Given the description of an element on the screen output the (x, y) to click on. 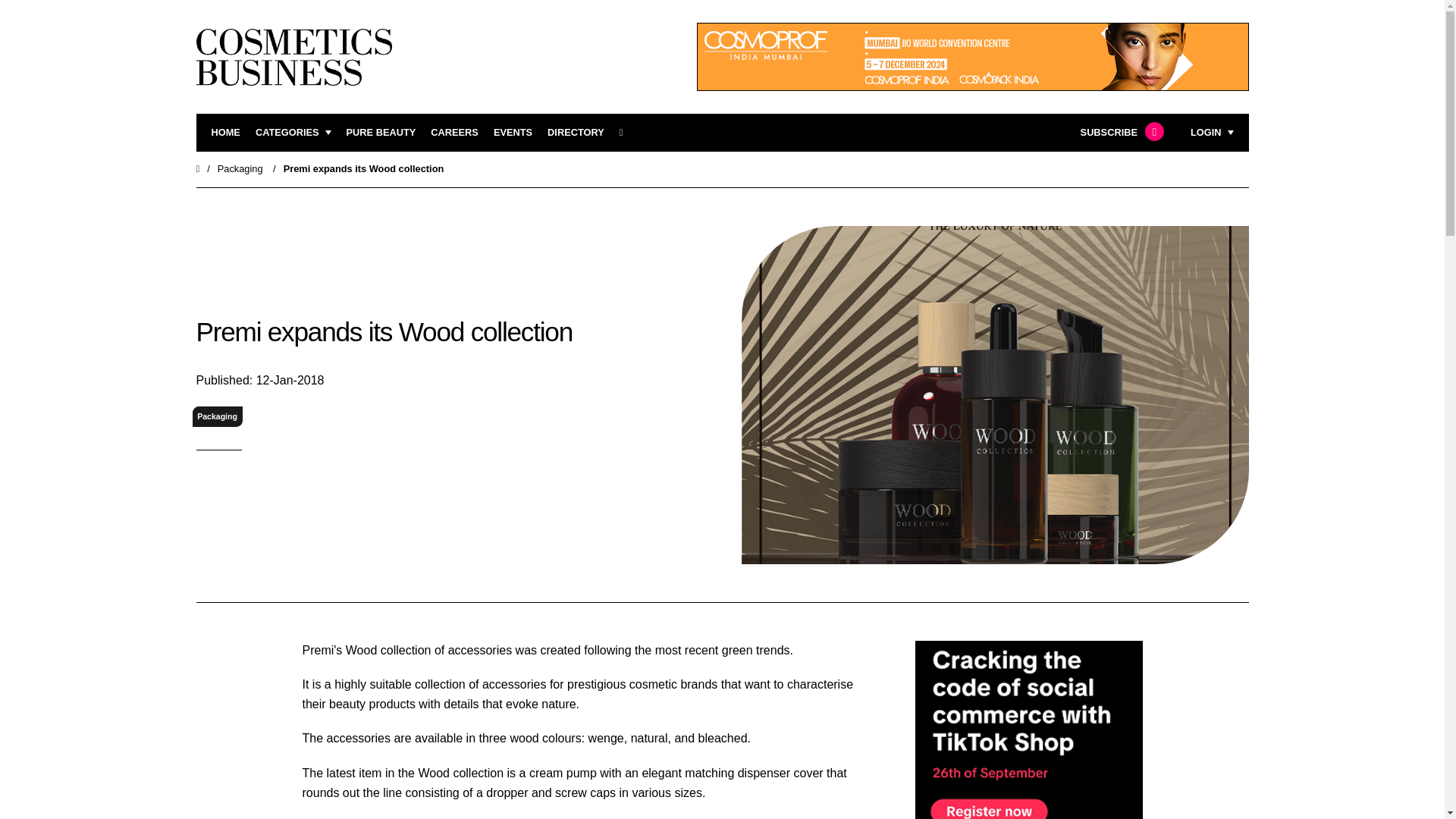
SUBSCRIBE (1120, 133)
Packaging (239, 168)
Pure Beauty (381, 133)
DIRECTORY (575, 133)
PURE BEAUTY (381, 133)
HOME (225, 133)
Sign In (1134, 321)
SEARCH (626, 133)
Directory (575, 133)
CAREERS (454, 133)
